Given the description of an element on the screen output the (x, y) to click on. 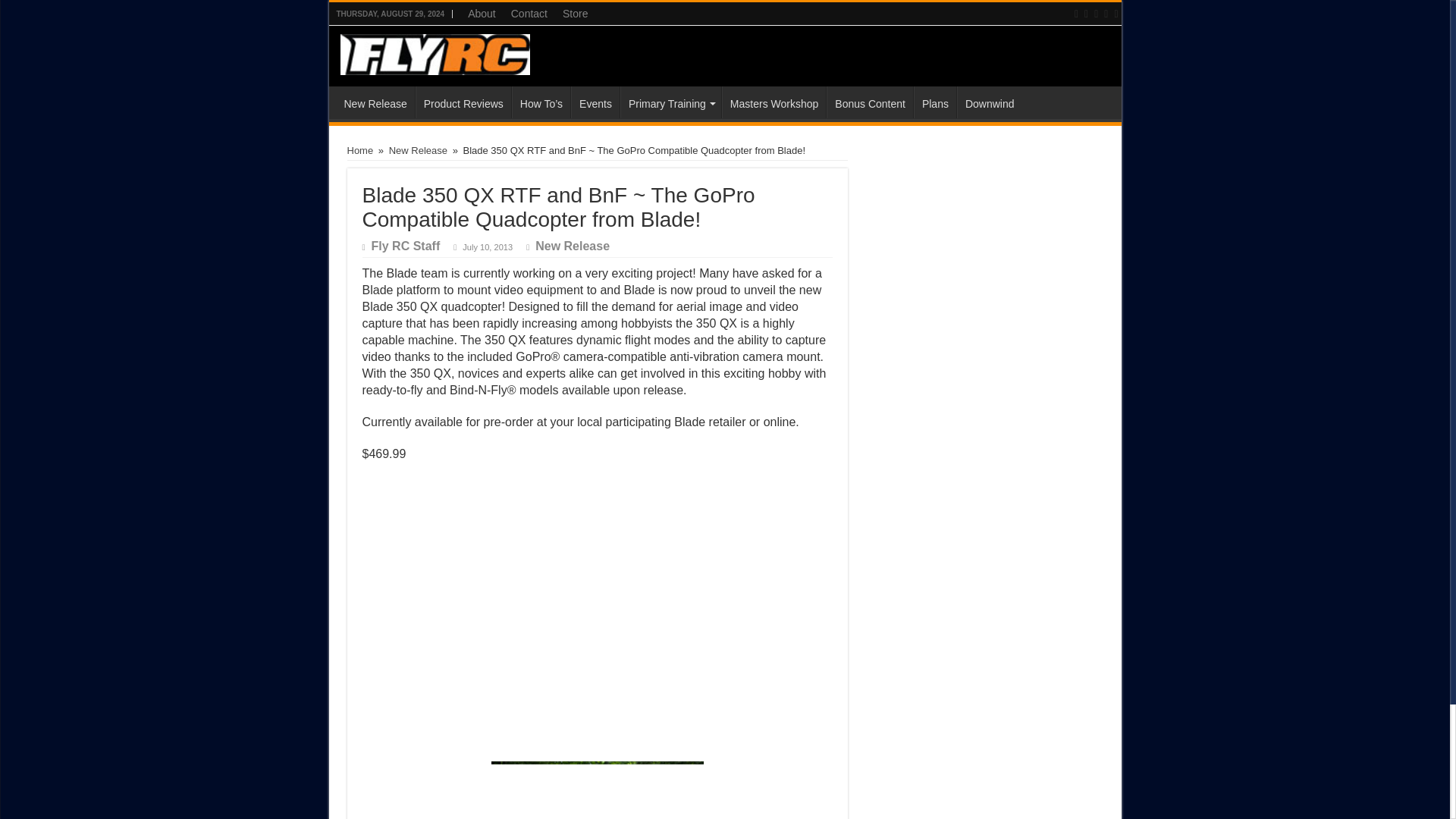
Events (595, 101)
Contact (528, 13)
Fly RC Staff (406, 245)
New Release (375, 101)
About (481, 13)
Home (360, 150)
Store (574, 13)
Masters Workshop (773, 101)
Fly RC Magazine (434, 51)
Plans (935, 101)
